Given the description of an element on the screen output the (x, y) to click on. 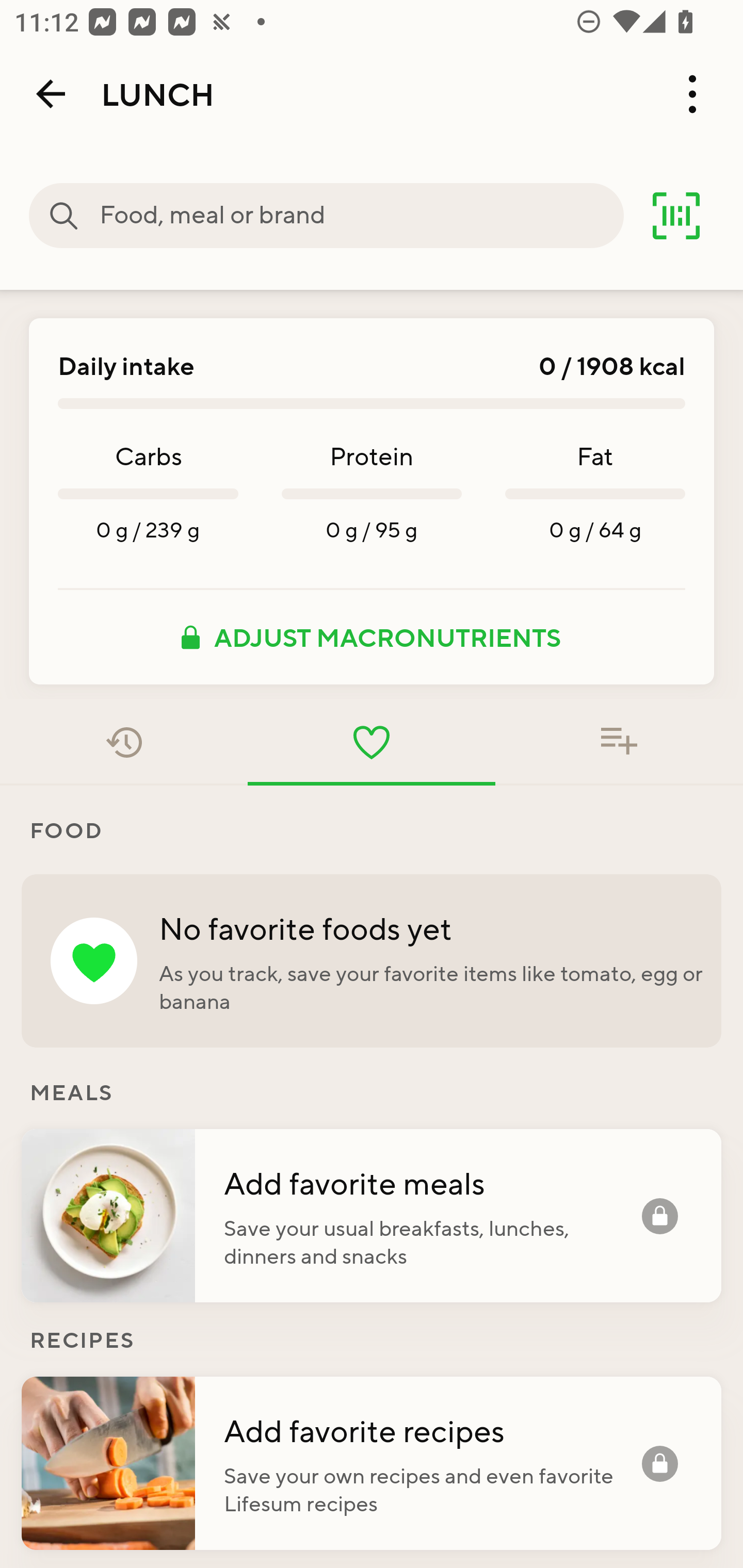
Back (50, 93)
Food, meal or brand (63, 215)
Food, meal or brand (361, 215)
ADJUST MACRONUTRIENTS (371, 637)
Recent (123, 742)
Food added (619, 742)
Add favorite meals (432, 1182)
Add favorite recipes (432, 1429)
